Given the description of an element on the screen output the (x, y) to click on. 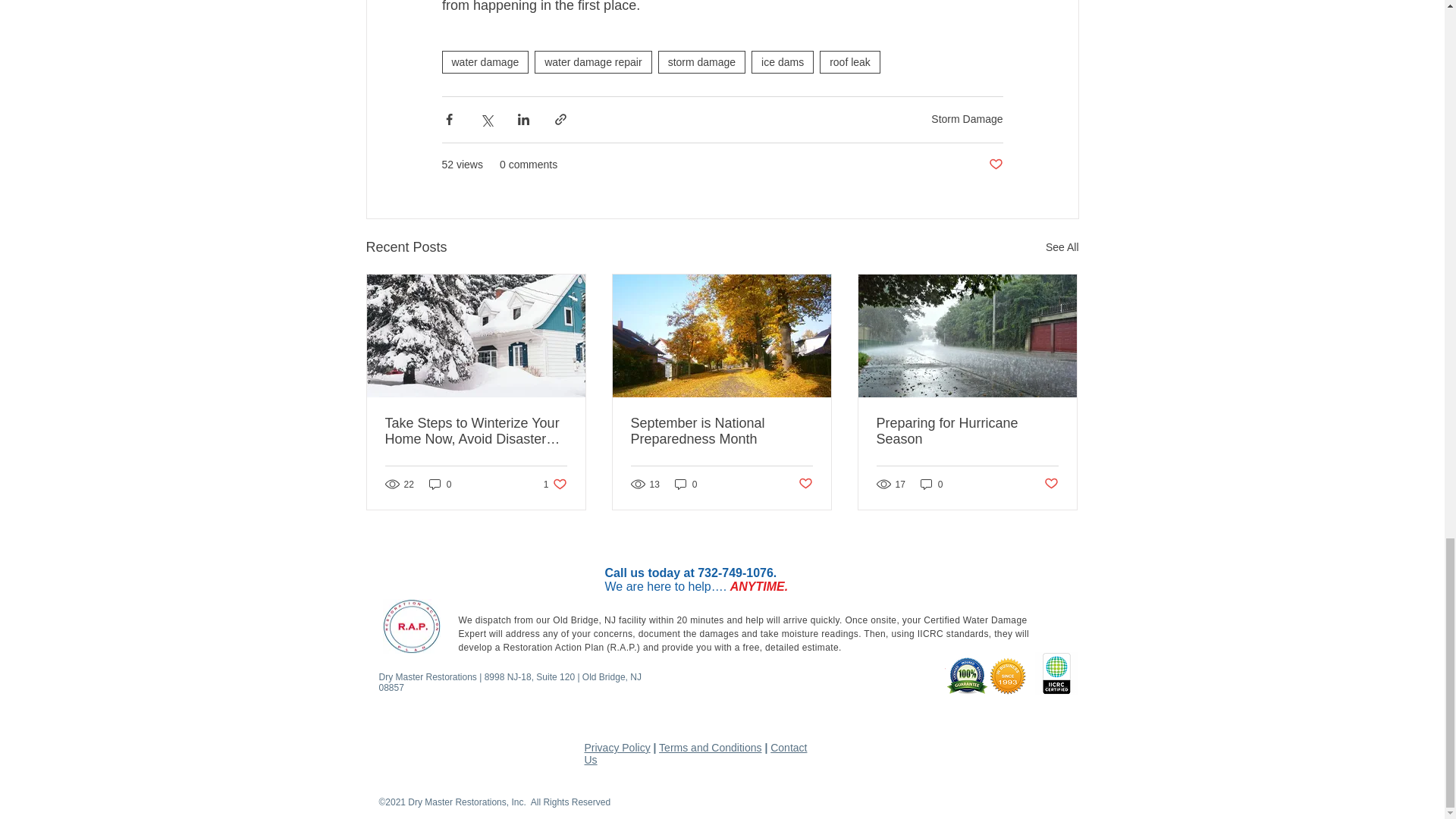
storm damage (701, 61)
Storm Damage (967, 119)
ice dams (782, 61)
roof leak (849, 61)
water damage (484, 61)
water damage repair (592, 61)
